Given the description of an element on the screen output the (x, y) to click on. 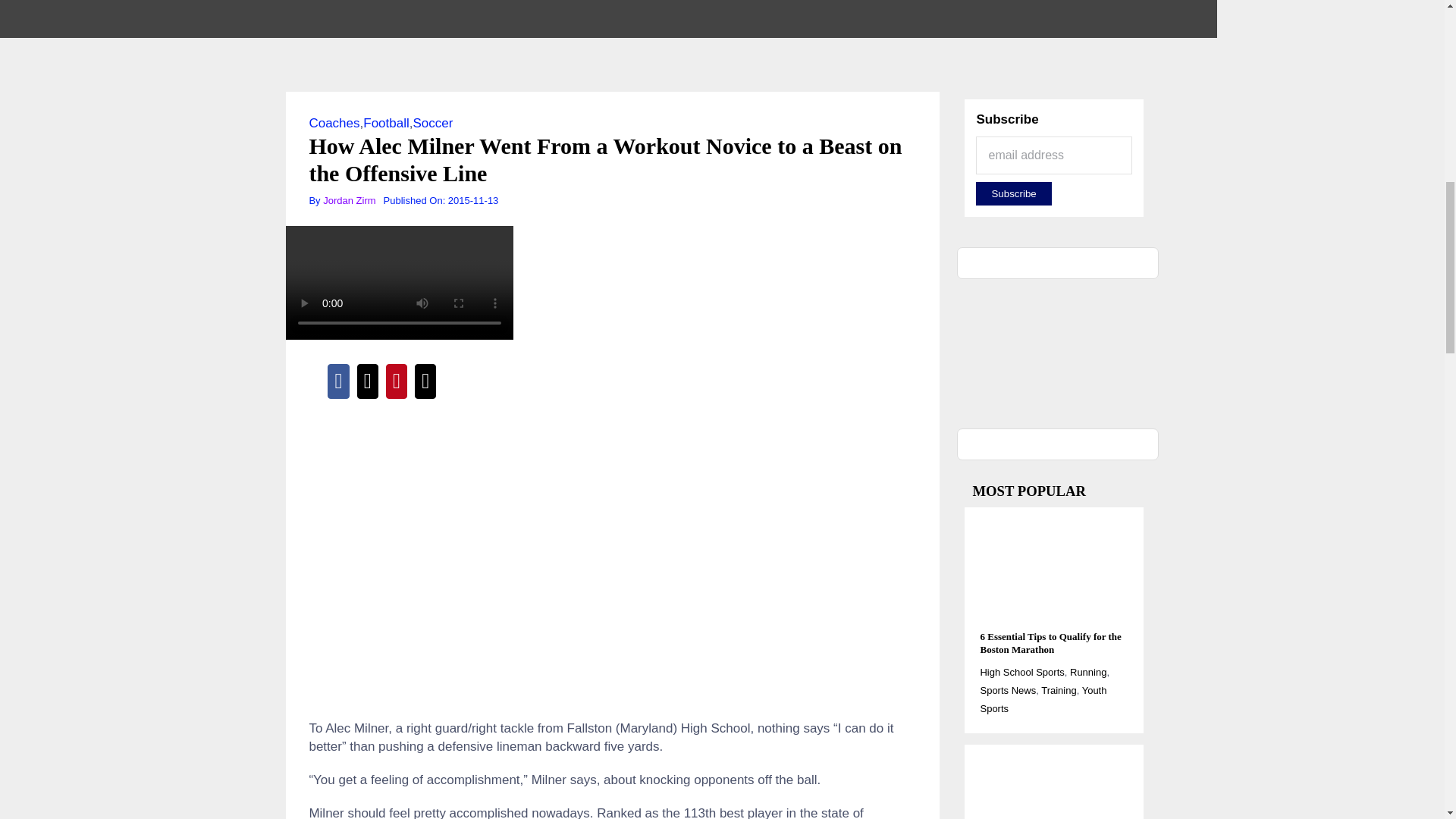
Soccer (432, 123)
Coaches (333, 123)
Football (385, 123)
Subscribe (1013, 193)
Posts by Jordan Zirm (349, 200)
